Given the description of an element on the screen output the (x, y) to click on. 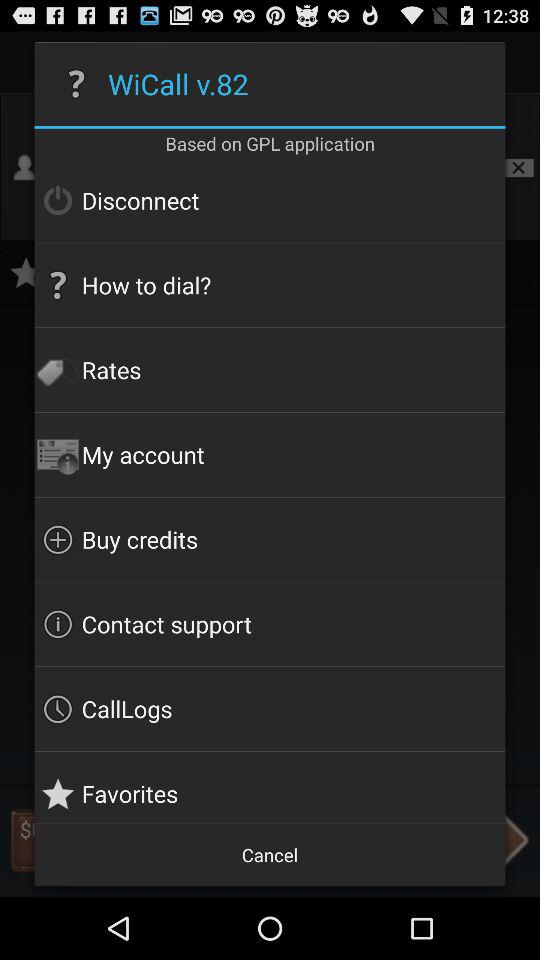
open the how to dial? icon (269, 285)
